Given the description of an element on the screen output the (x, y) to click on. 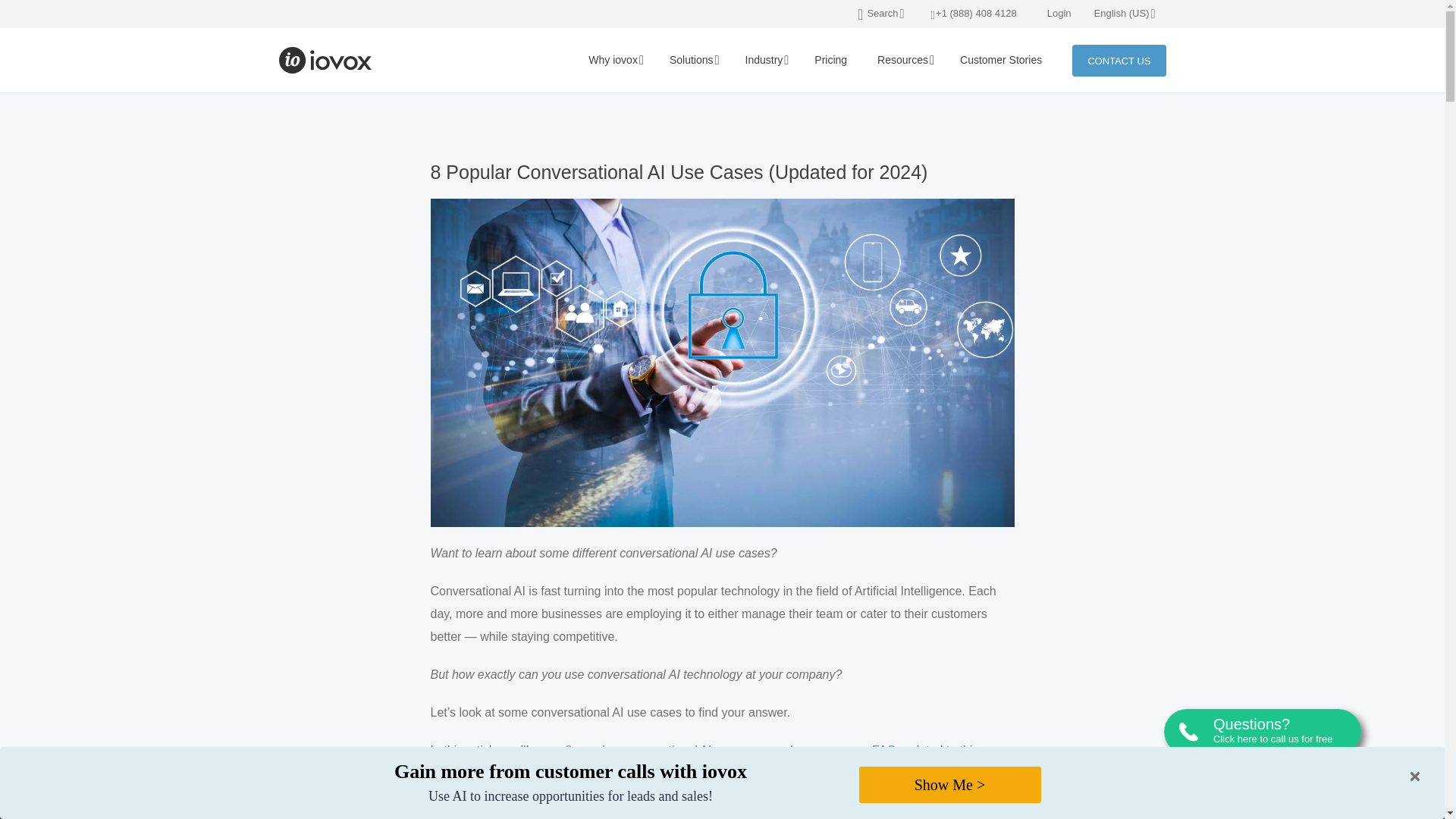
iovox (326, 59)
CONTACT US (1118, 60)
GOT IT! (1388, 796)
Close (1414, 775)
Learn more (484, 795)
Customer Stories (1000, 59)
CONTACT US (1118, 59)
Login (1058, 12)
